Given the description of an element on the screen output the (x, y) to click on. 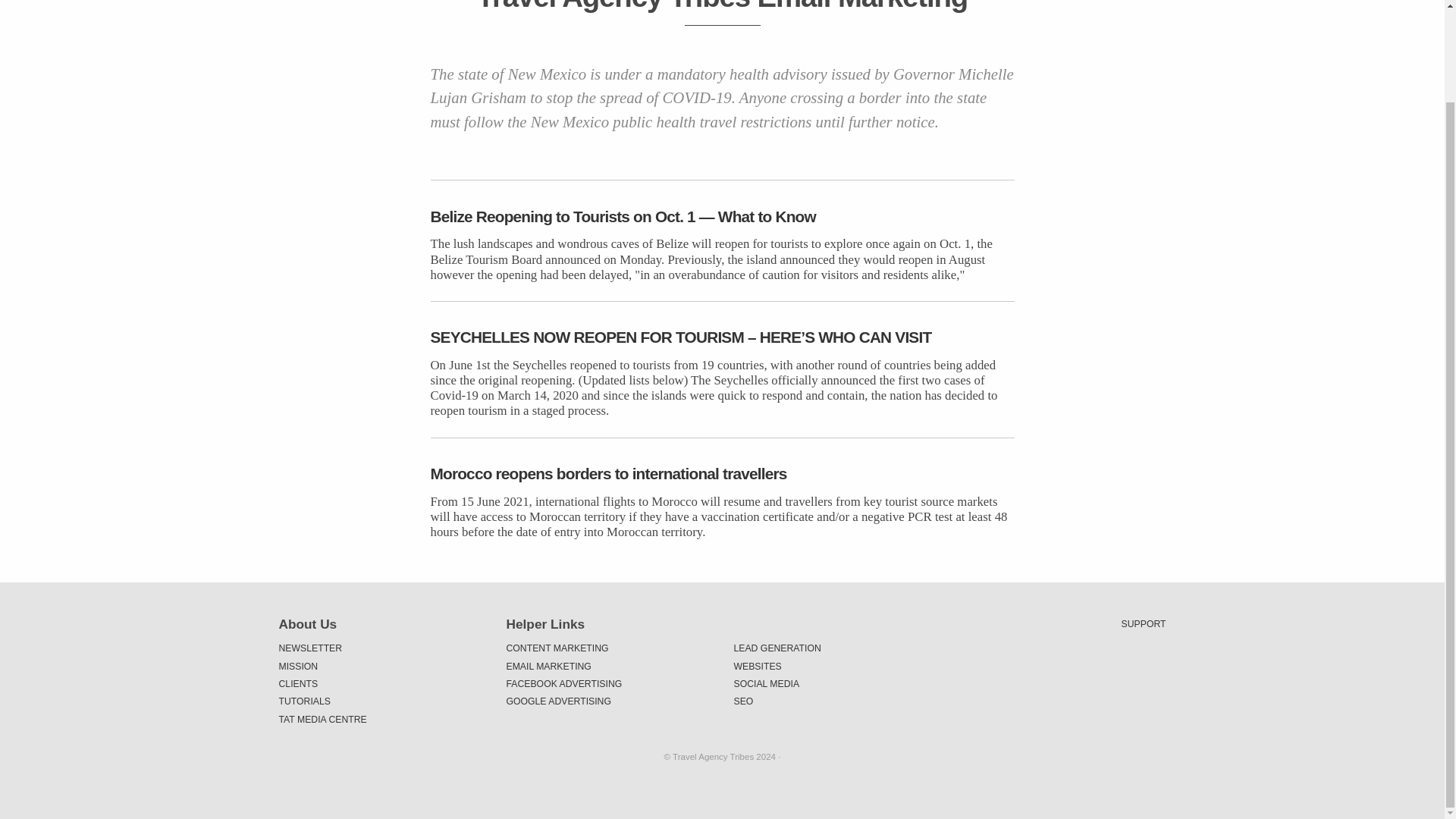
FACEBOOK ADVERTISING (608, 683)
EMAIL MARKETING (608, 665)
CLIENTS (381, 683)
Morocco reopens borders to international travellers (722, 473)
WEBSITES (836, 665)
NEWSLETTER (381, 648)
SUPPORT (1143, 623)
LEAD GENERATION (836, 648)
MISSION (381, 665)
SEO (836, 701)
CONTENT MARKETING (608, 648)
TAT MEDIA CENTRE (381, 719)
SOCIAL MEDIA (836, 683)
GOOGLE ADVERTISING (608, 701)
TUTORIALS (381, 701)
